Given the description of an element on the screen output the (x, y) to click on. 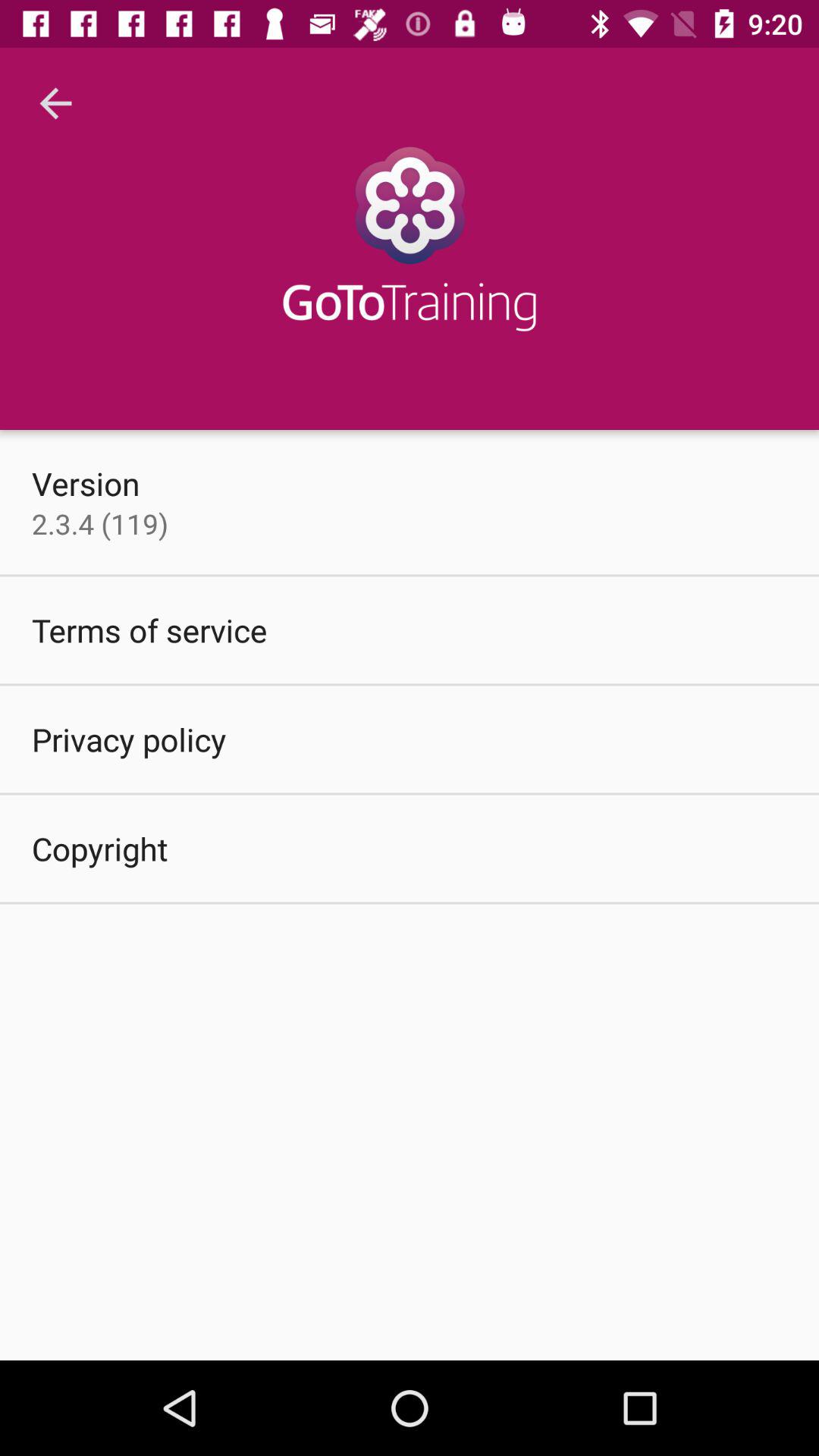
launch the item above terms of service (99, 523)
